Given the description of an element on the screen output the (x, y) to click on. 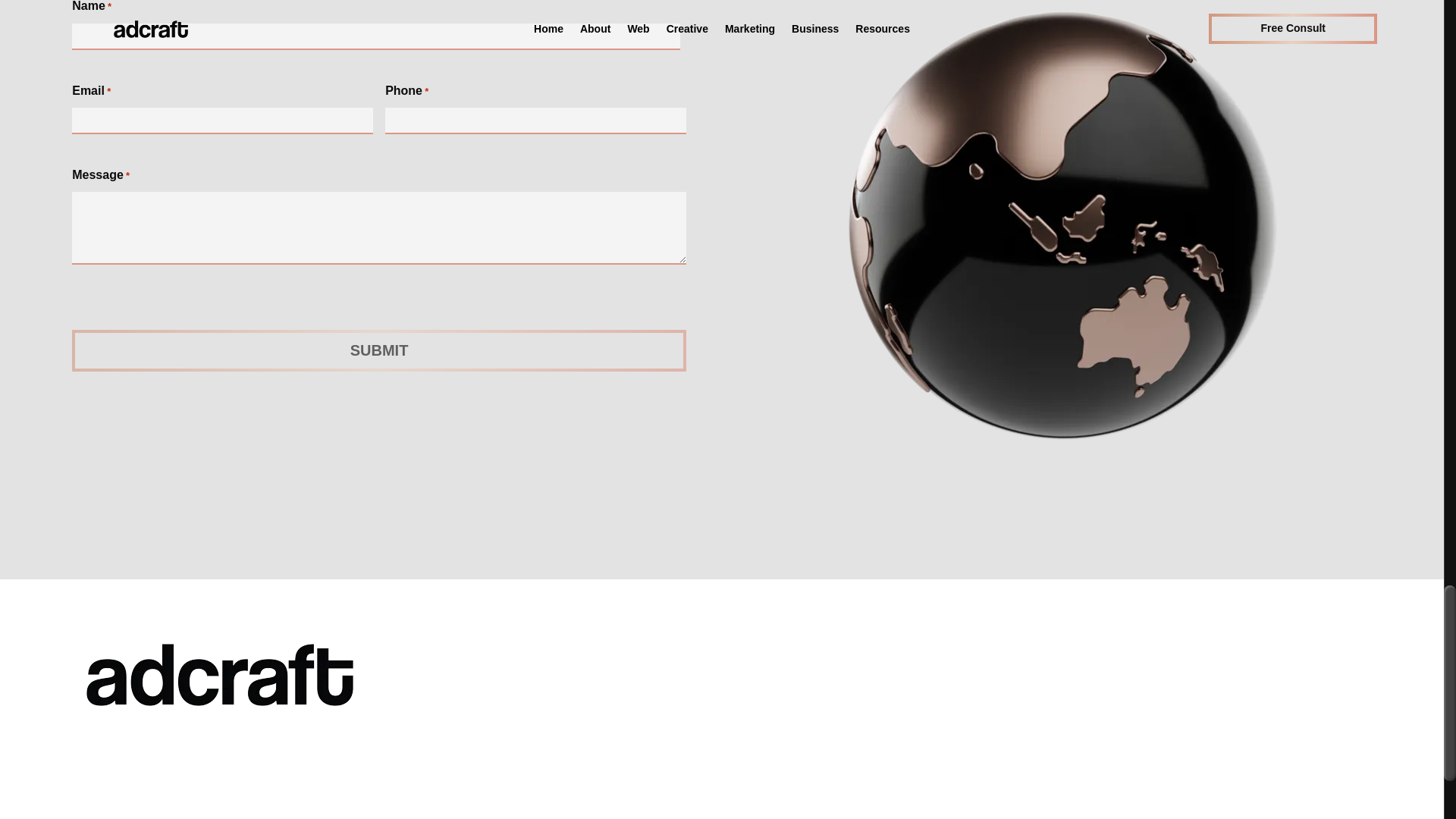
Submit (378, 350)
